Given the description of an element on the screen output the (x, y) to click on. 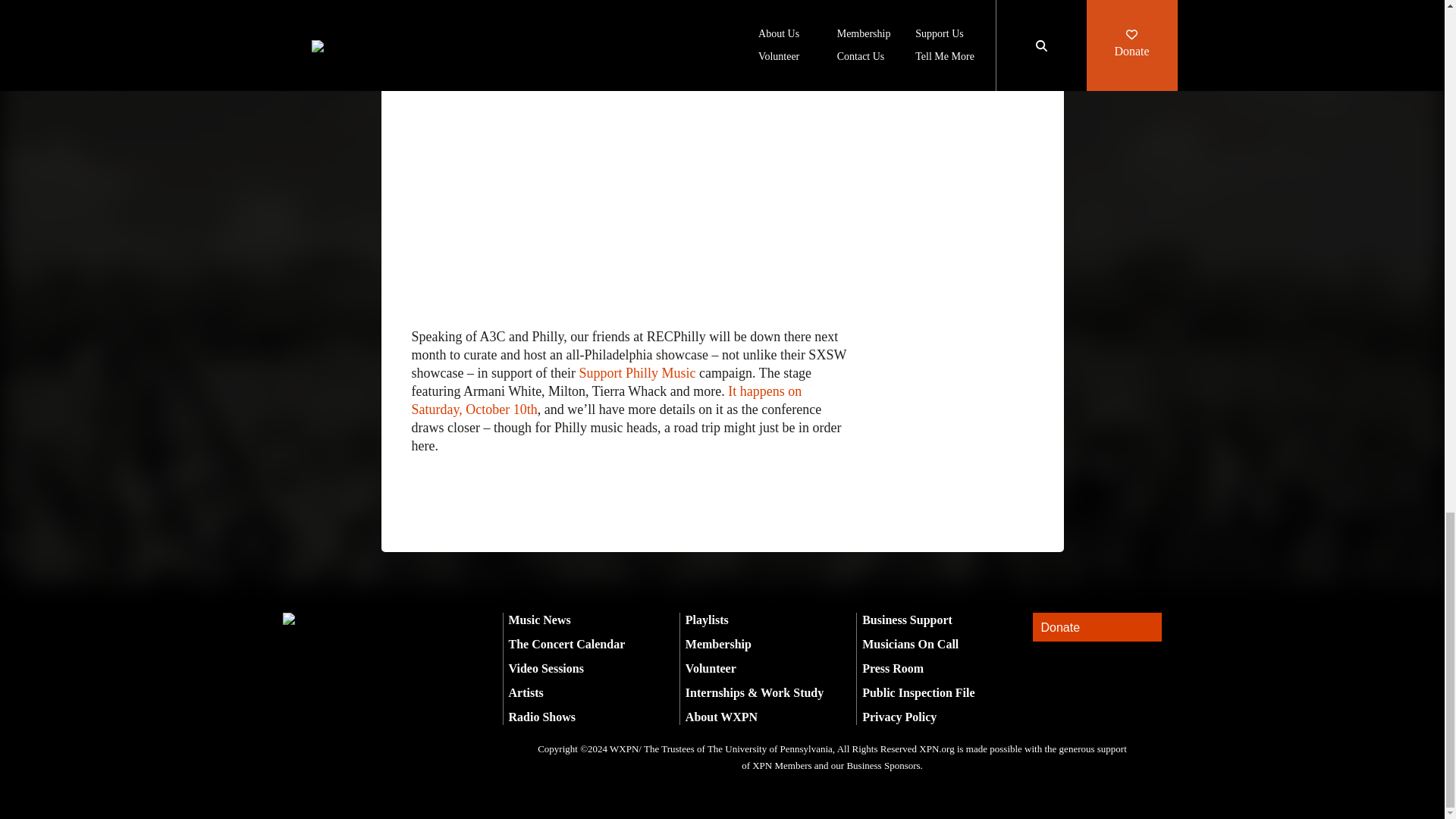
Video Sessions (545, 667)
Artists (525, 692)
Atlanta hip-hop conference happening next month (619, 15)
Business Support (906, 619)
Radio Shows (541, 716)
Volunteer (710, 667)
The Concert Calendar (566, 644)
Musicians On Call (909, 644)
A3C Volume 5 (536, 6)
Playlists (707, 619)
Membership (718, 644)
Privacy Policy (898, 716)
Public Inspection File (917, 692)
About WXPN (721, 716)
Music News (539, 619)
